Given the description of an element on the screen output the (x, y) to click on. 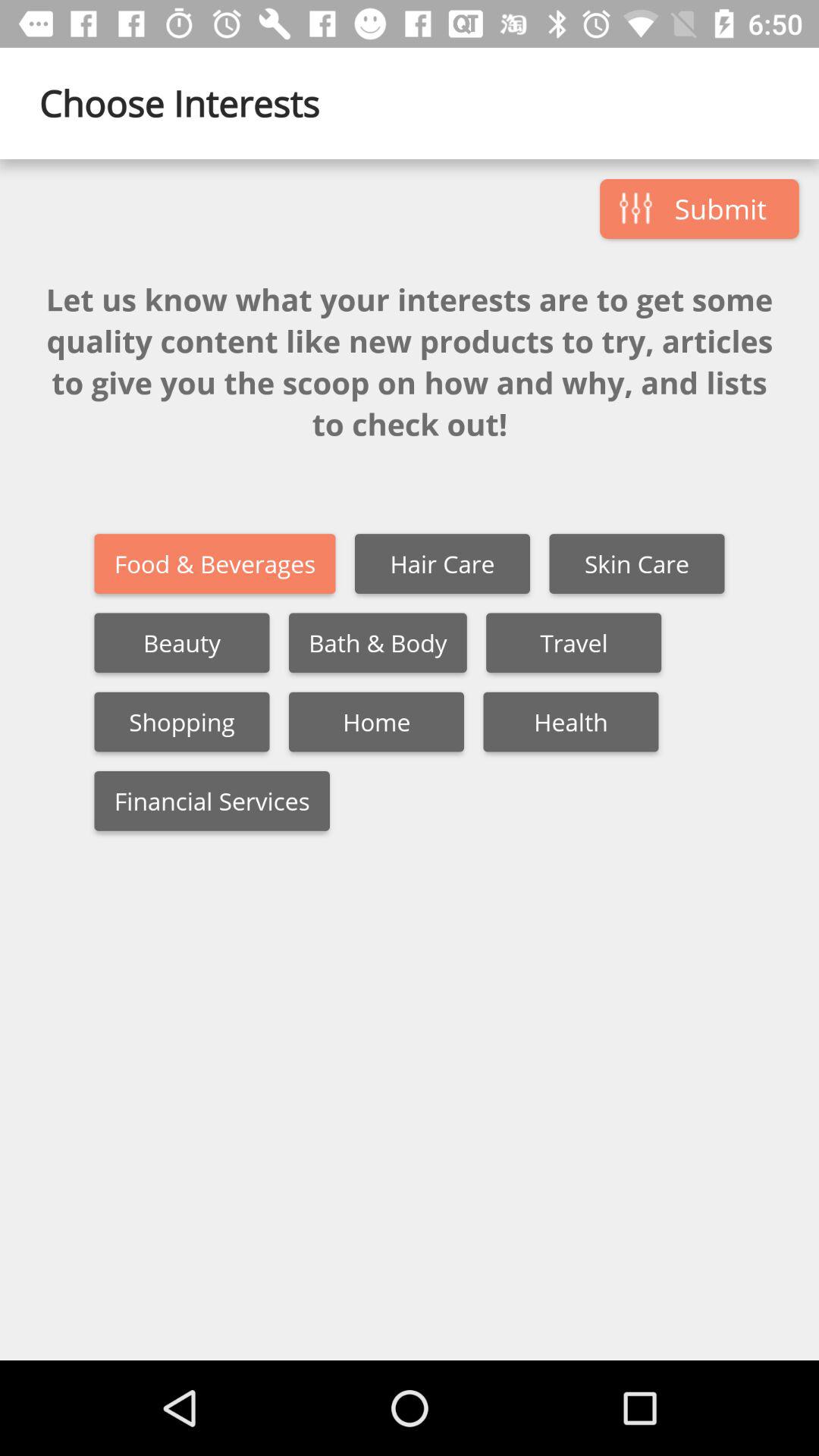
turn off the icon to the right of hair care (636, 563)
